Given the description of an element on the screen output the (x, y) to click on. 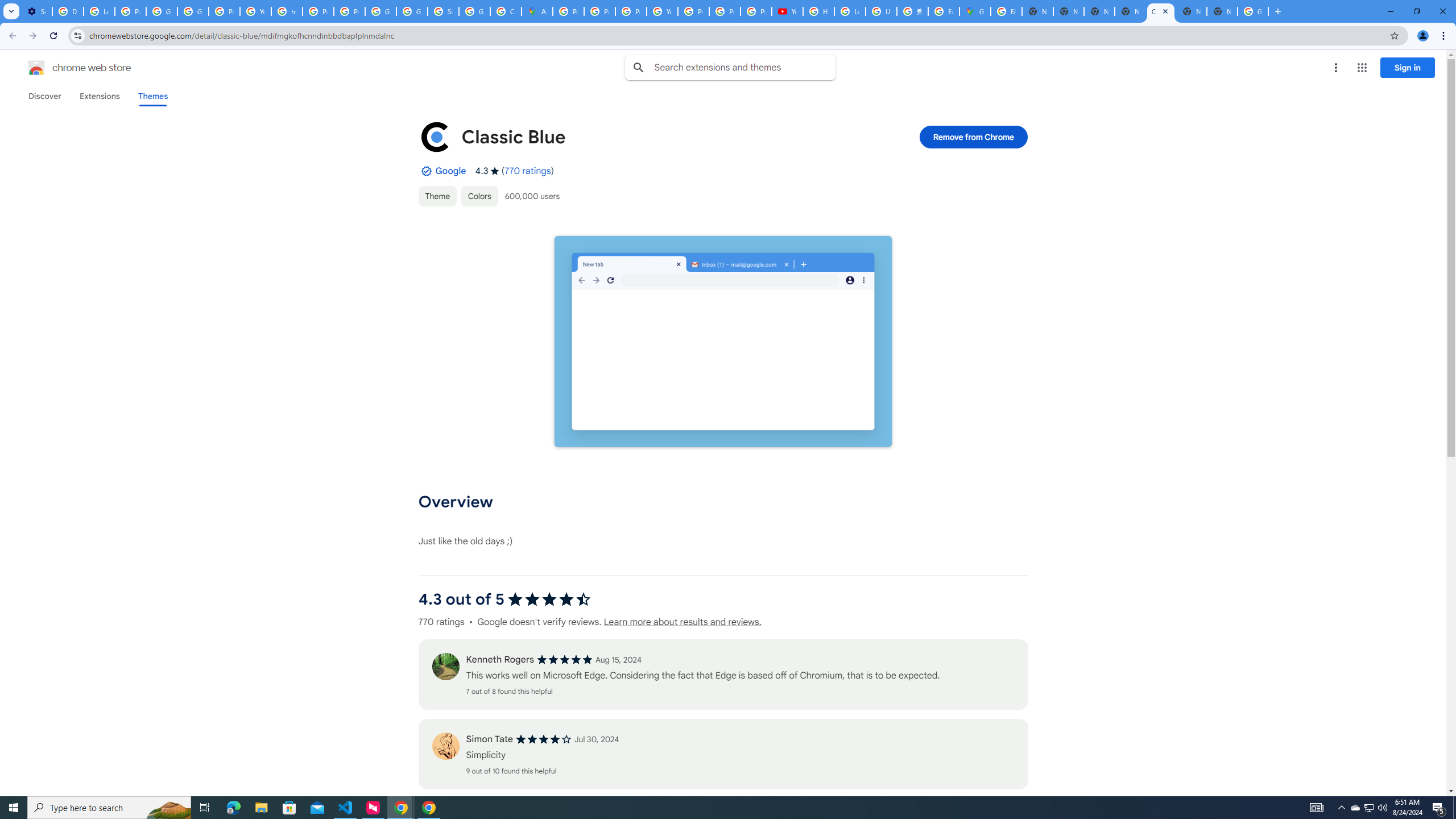
Colors (479, 195)
YouTube (787, 11)
Create your Google Account (505, 11)
Item logo image for Classic Blue Classic Blue (645, 136)
770 ratings (527, 170)
Policy Accountability and Transparency - Transparency Center (568, 11)
Delete photos & videos - Computer - Google Photos Help (67, 11)
Explore new street-level details - Google Maps Help (943, 11)
Item media 1 screenshot (722, 341)
